Given the description of an element on the screen output the (x, y) to click on. 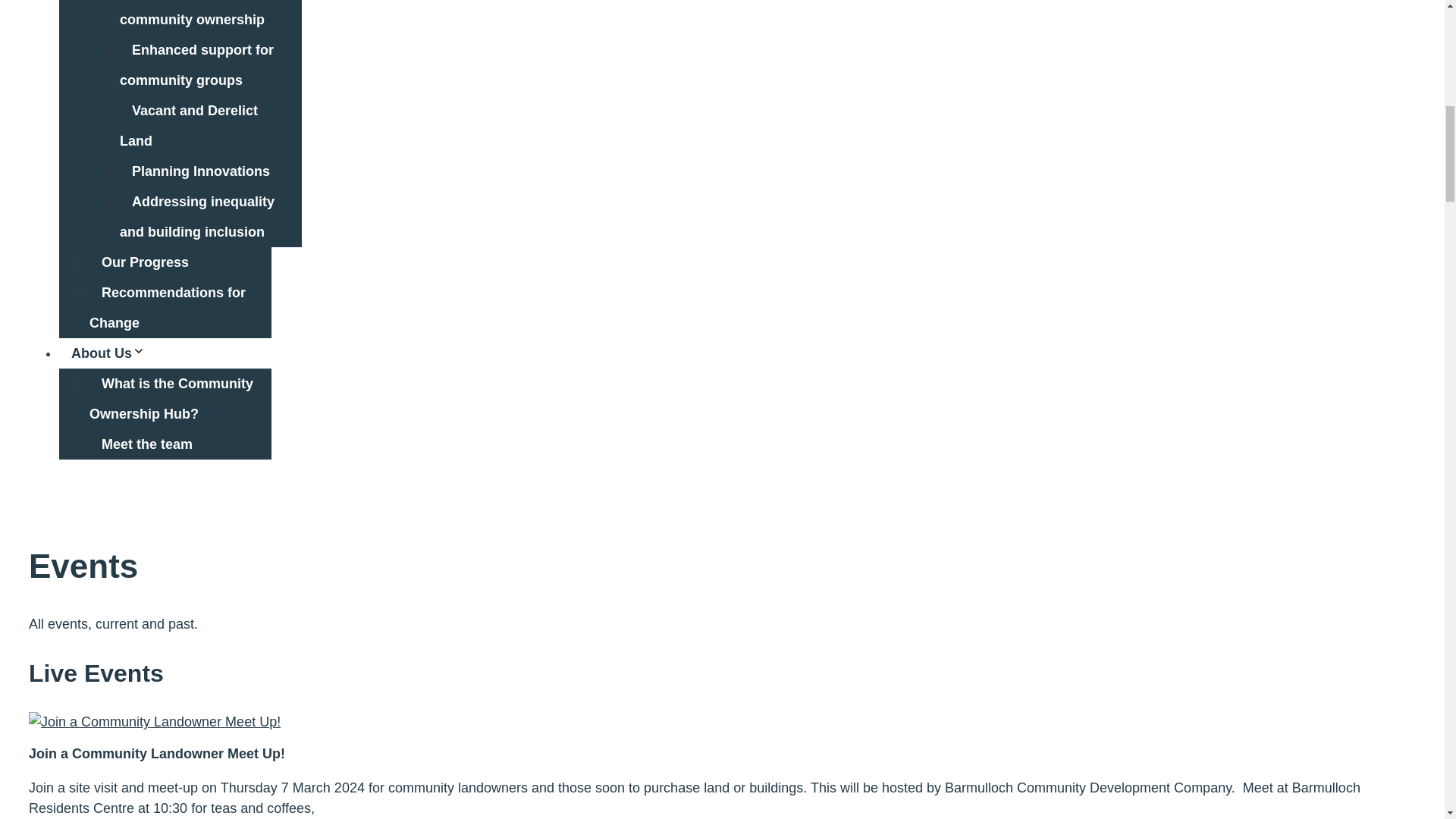
About Us (114, 353)
Our Progress (144, 262)
What is the Community Ownership Hub? (170, 398)
Planning Innovations (200, 171)
Addressing inequality and building inclusion (197, 216)
Raise the profile of community ownership (197, 17)
Meet the team (146, 444)
Recommendations for Change (167, 307)
Enhanced support for community groups (196, 65)
